Given the description of an element on the screen output the (x, y) to click on. 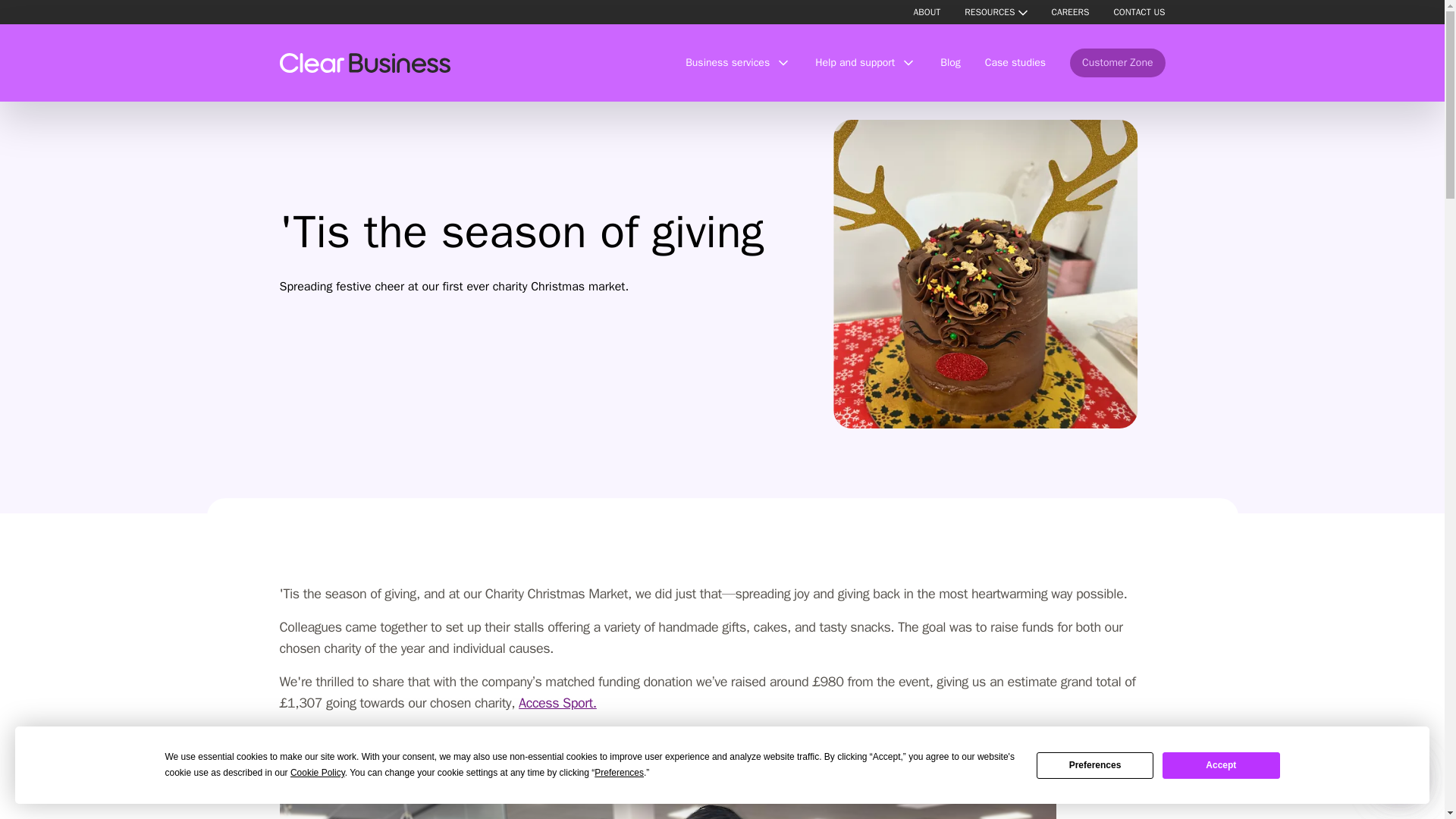
Stroke Association (510, 757)
CONTACT US (1138, 11)
Business services (737, 62)
Preferences (1094, 765)
Blog (950, 62)
Customer Zone (1117, 62)
Accept (1220, 765)
Clear Business Christmas market 2 (667, 799)
RESOURCES (988, 11)
Access Sport. (557, 702)
ABOUT (927, 11)
Help and support (865, 62)
CAREERS (1070, 11)
Case studies (1015, 62)
